Given the description of an element on the screen output the (x, y) to click on. 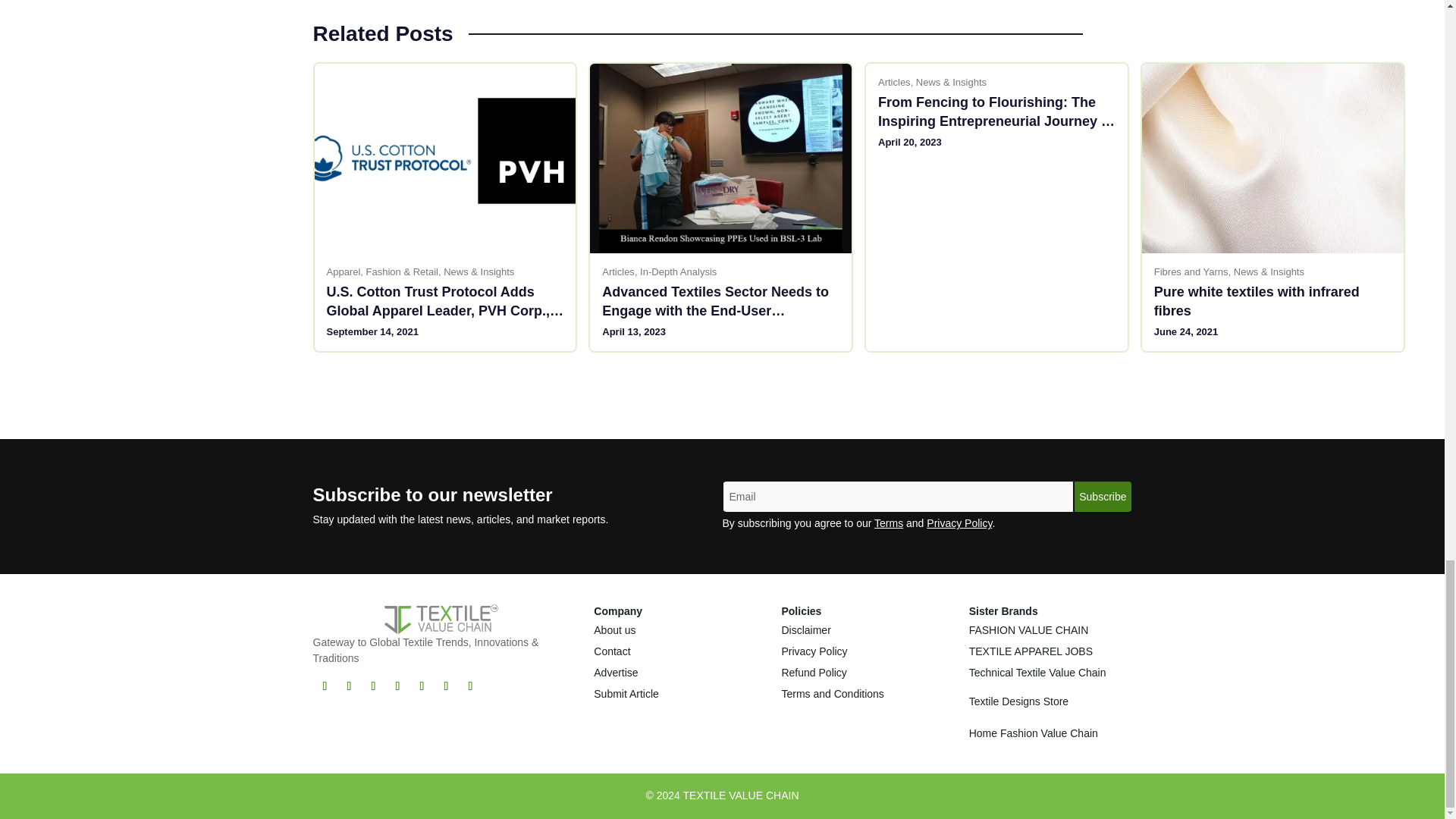
Subscribe (1102, 496)
